Given the description of an element on the screen output the (x, y) to click on. 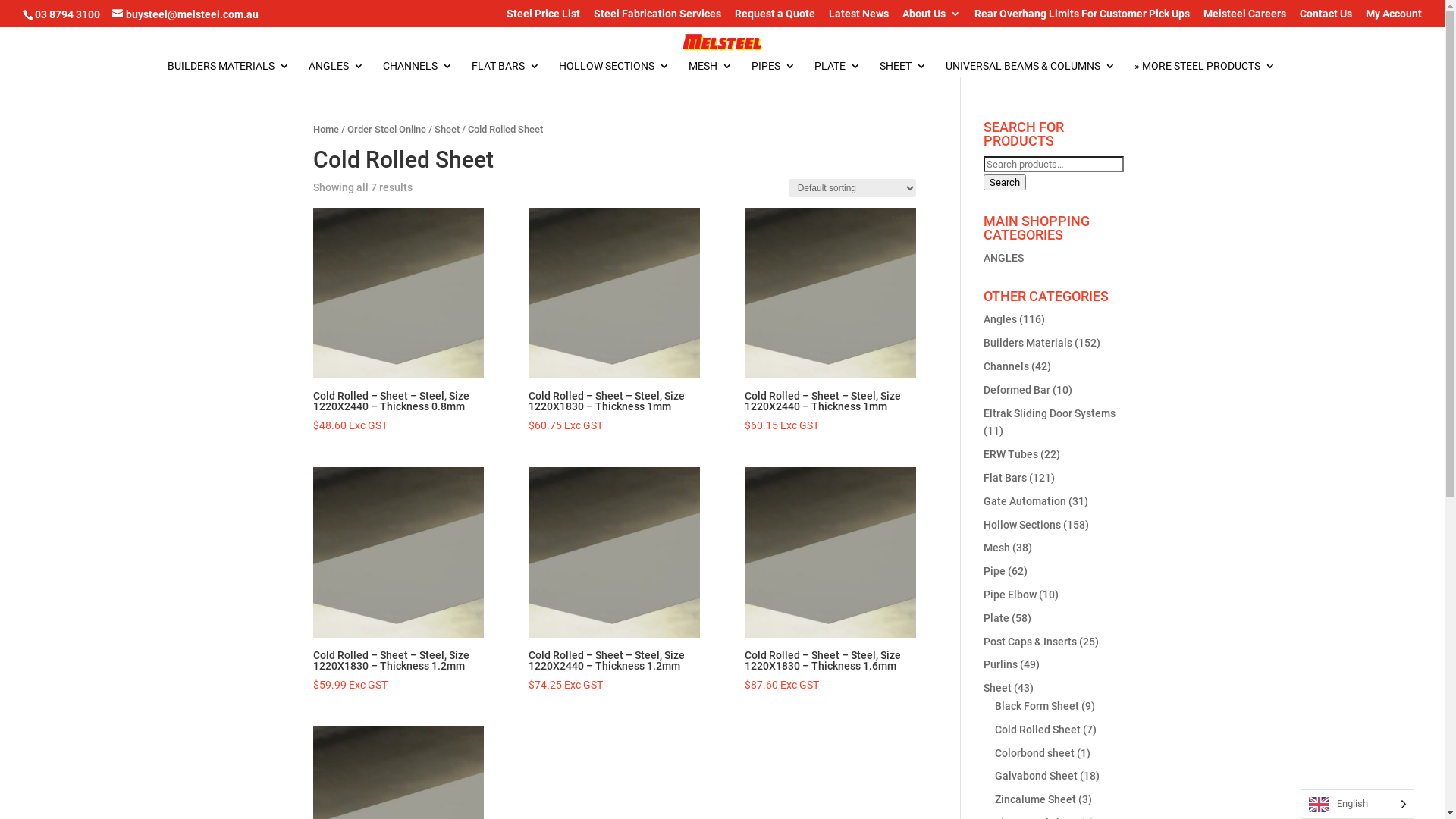
Contact Us Element type: text (1325, 16)
buysteel@melsteel.com.au Element type: text (185, 13)
Search Element type: text (1004, 182)
Post Caps & Inserts Element type: text (1029, 641)
Latest News Element type: text (858, 16)
Plate Element type: text (996, 617)
Purlins Element type: text (1000, 664)
Sheet Element type: text (445, 128)
Galvabond Sheet Element type: text (1035, 775)
Pipe Element type: text (994, 570)
Eltrak Sliding Door Systems Element type: text (1049, 413)
MESH Element type: text (710, 68)
Builders Materials Element type: text (1027, 342)
Hollow Sections Element type: text (1021, 524)
Melsteel Careers Element type: text (1244, 16)
Angles Element type: text (999, 319)
Channels Element type: text (1006, 366)
FLAT BARS Element type: text (505, 68)
Steel Price List Element type: text (543, 16)
Colorbond sheet Element type: text (1034, 752)
Steel Fabrication Services Element type: text (657, 16)
Black Form Sheet Element type: text (1036, 705)
PLATE Element type: text (837, 68)
Zincalume Sheet Element type: text (1035, 799)
My Account Element type: text (1393, 16)
HOLLOW SECTIONS Element type: text (613, 68)
Sheet Element type: text (997, 687)
UNIVERSAL BEAMS & COLUMNS Element type: text (1030, 68)
ANGLES Element type: text (1003, 257)
Pipe Elbow Element type: text (1009, 594)
Request a Quote Element type: text (774, 16)
BUILDERS MATERIALS Element type: text (228, 68)
Home Element type: text (325, 128)
Gate Automation Element type: text (1024, 501)
ANGLES Element type: text (336, 68)
About Us Element type: text (931, 16)
Mesh Element type: text (996, 547)
CHANNELS Element type: text (417, 68)
Order Steel Online Element type: text (386, 128)
Rear Overhang Limits For Customer Pick Ups Element type: text (1081, 16)
Cold Rolled Sheet Element type: text (1037, 729)
ERW Tubes Element type: text (1010, 454)
PIPES Element type: text (773, 68)
SHEET Element type: text (902, 68)
Flat Bars Element type: text (1004, 477)
Deformed Bar Element type: text (1016, 389)
